Given the description of an element on the screen output the (x, y) to click on. 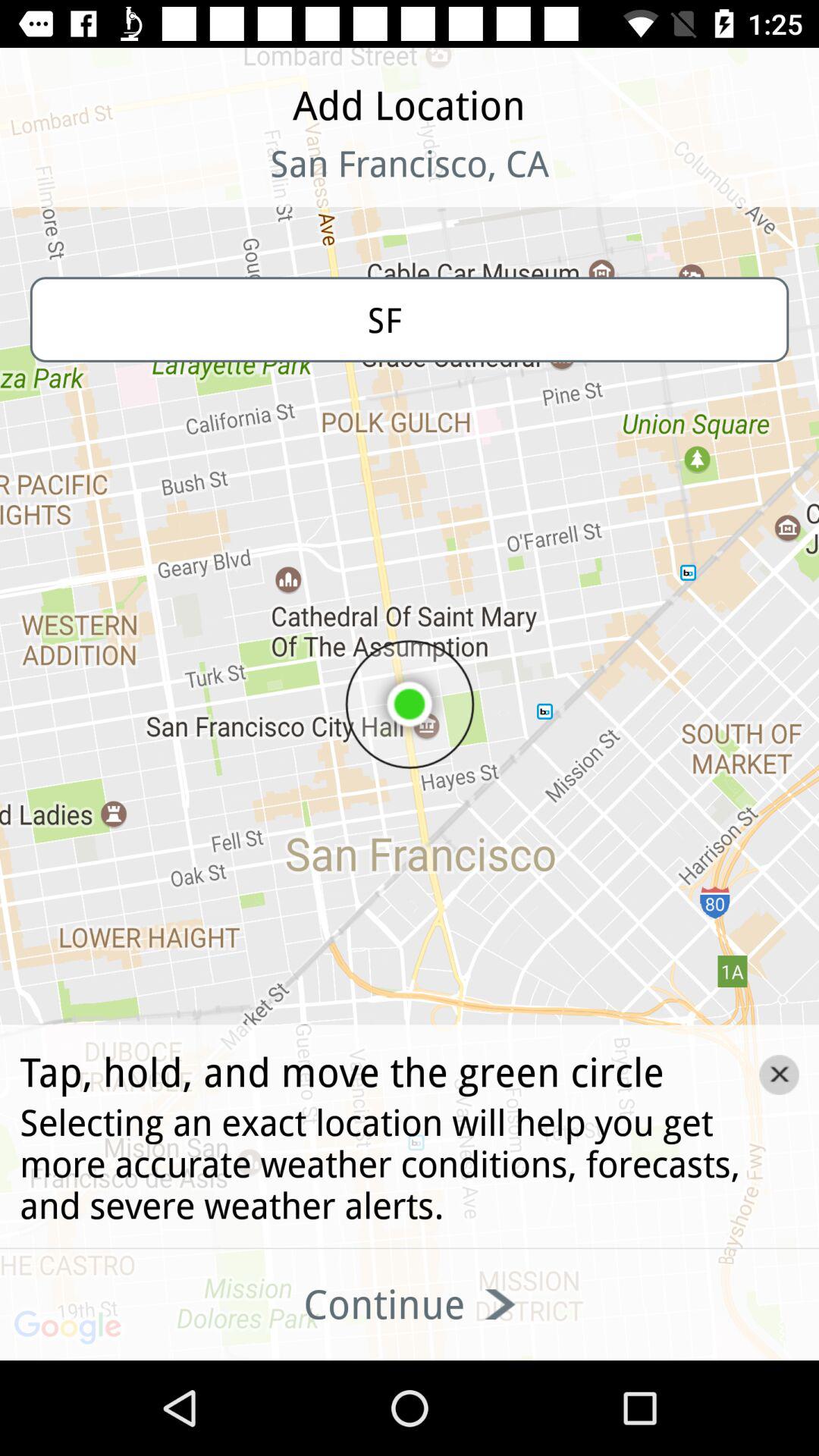
jump until the sf (409, 319)
